Given the description of an element on the screen output the (x, y) to click on. 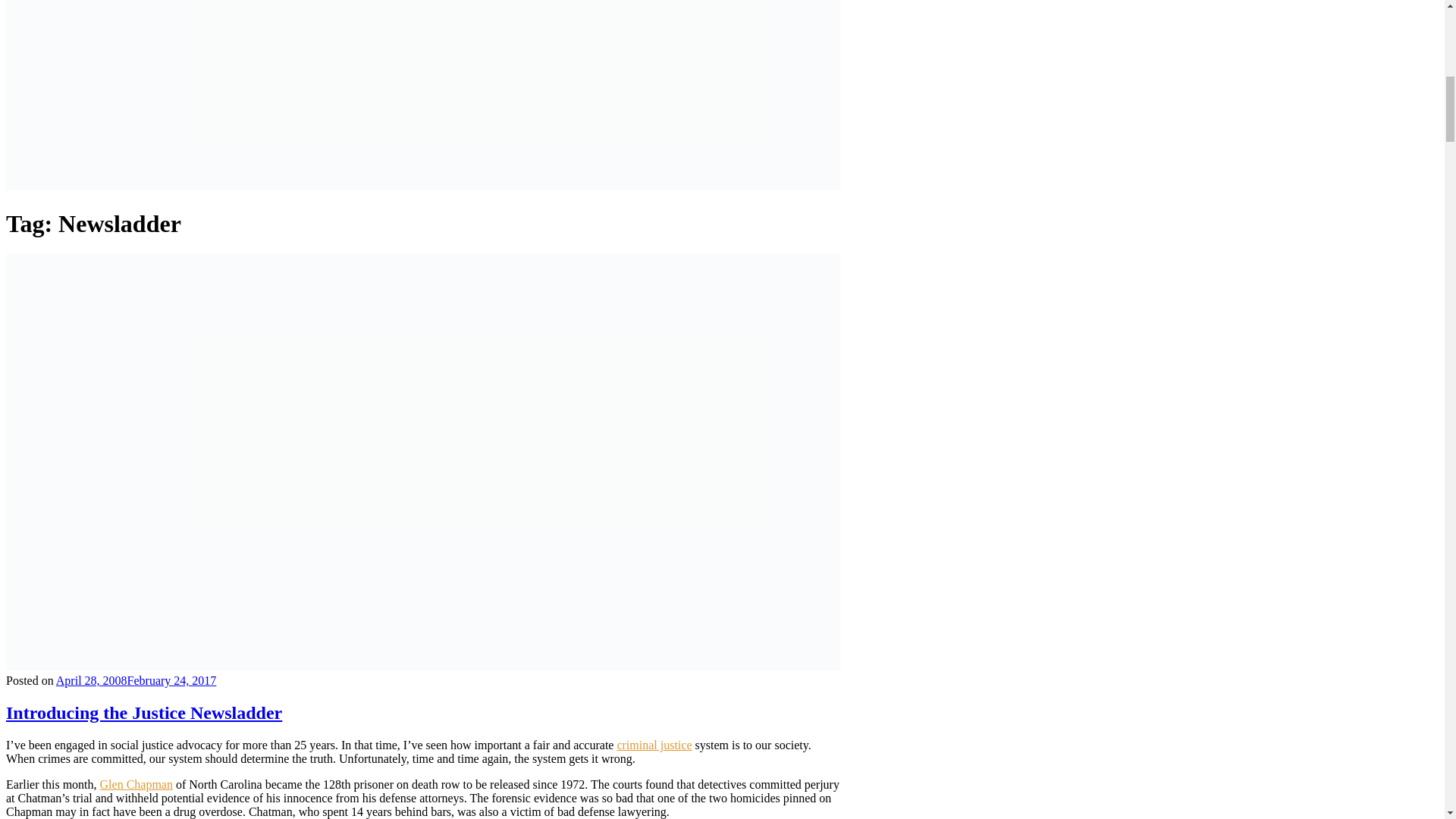
criminal justice (653, 744)
April 28, 2008February 24, 2017 (136, 680)
Introducing the Justice Newsladder (143, 712)
Glen Chapman (136, 784)
